Given the description of an element on the screen output the (x, y) to click on. 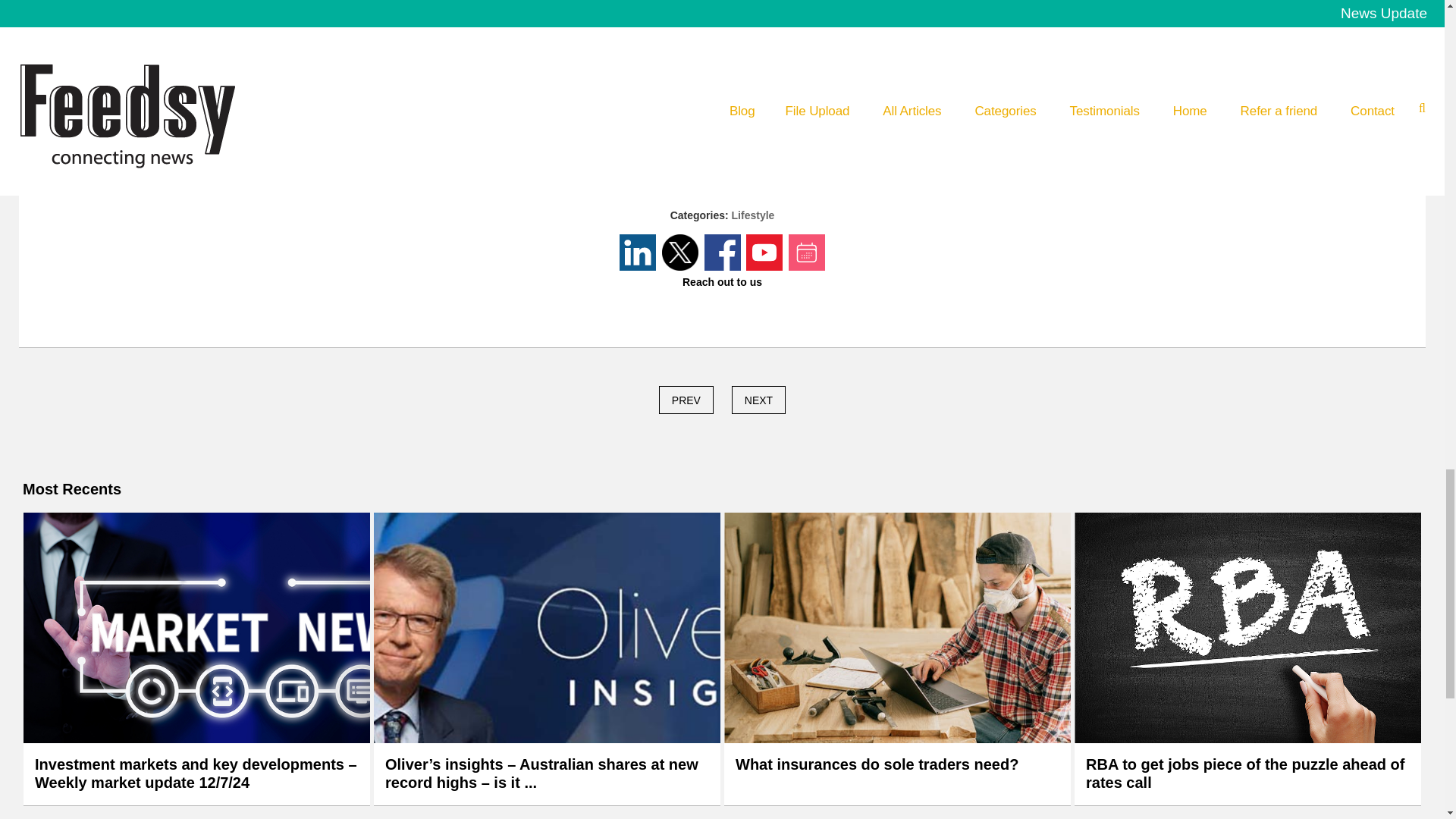
PREV (686, 399)
PRINT ME (722, 58)
twitter (701, 110)
Lifestyle (753, 215)
NEXT (759, 399)
mail (786, 110)
facebook (742, 110)
linkedin (659, 110)
